Given the description of an element on the screen output the (x, y) to click on. 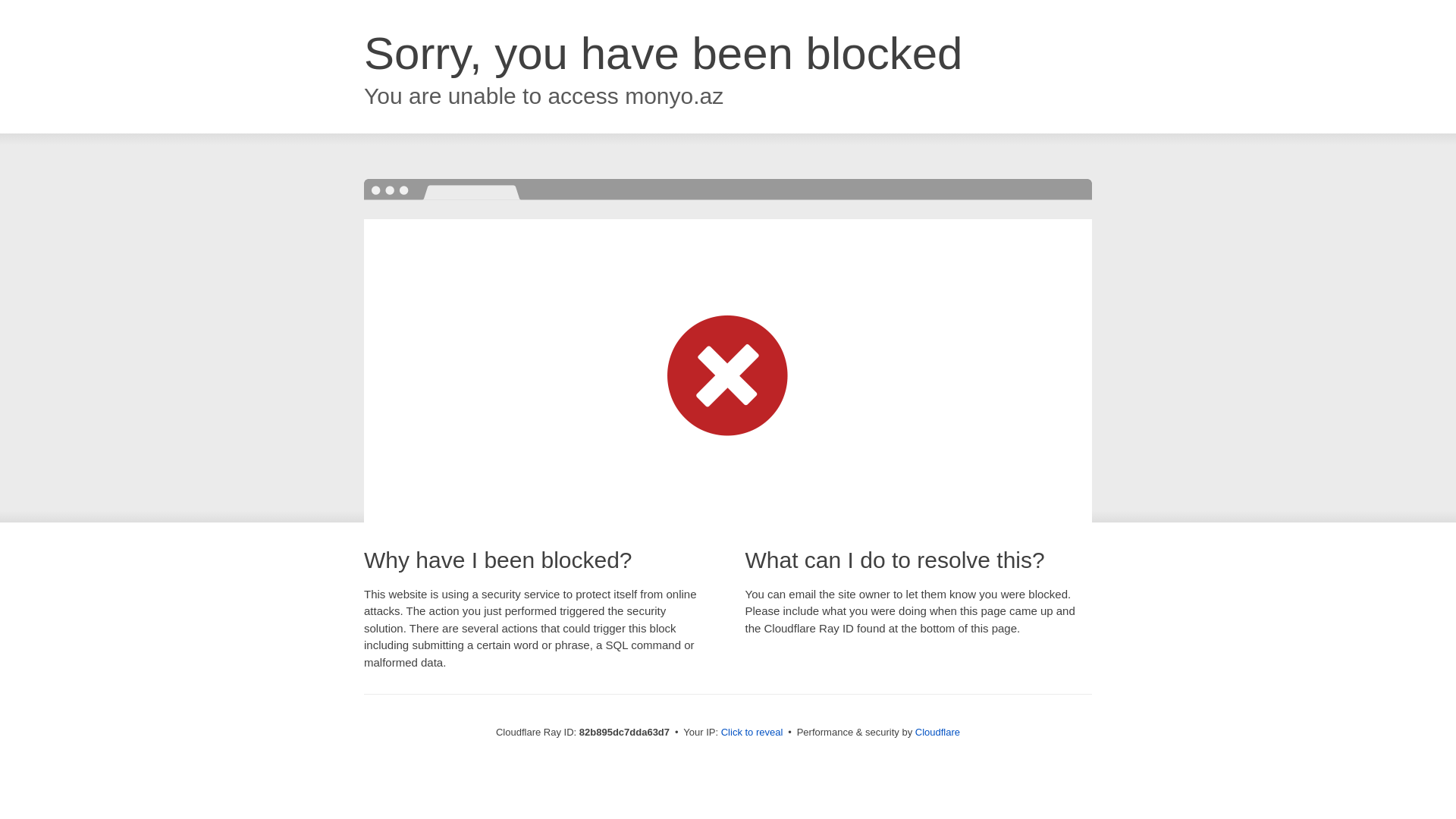
Click to reveal Element type: text (752, 732)
Cloudflare Element type: text (937, 731)
